Given the description of an element on the screen output the (x, y) to click on. 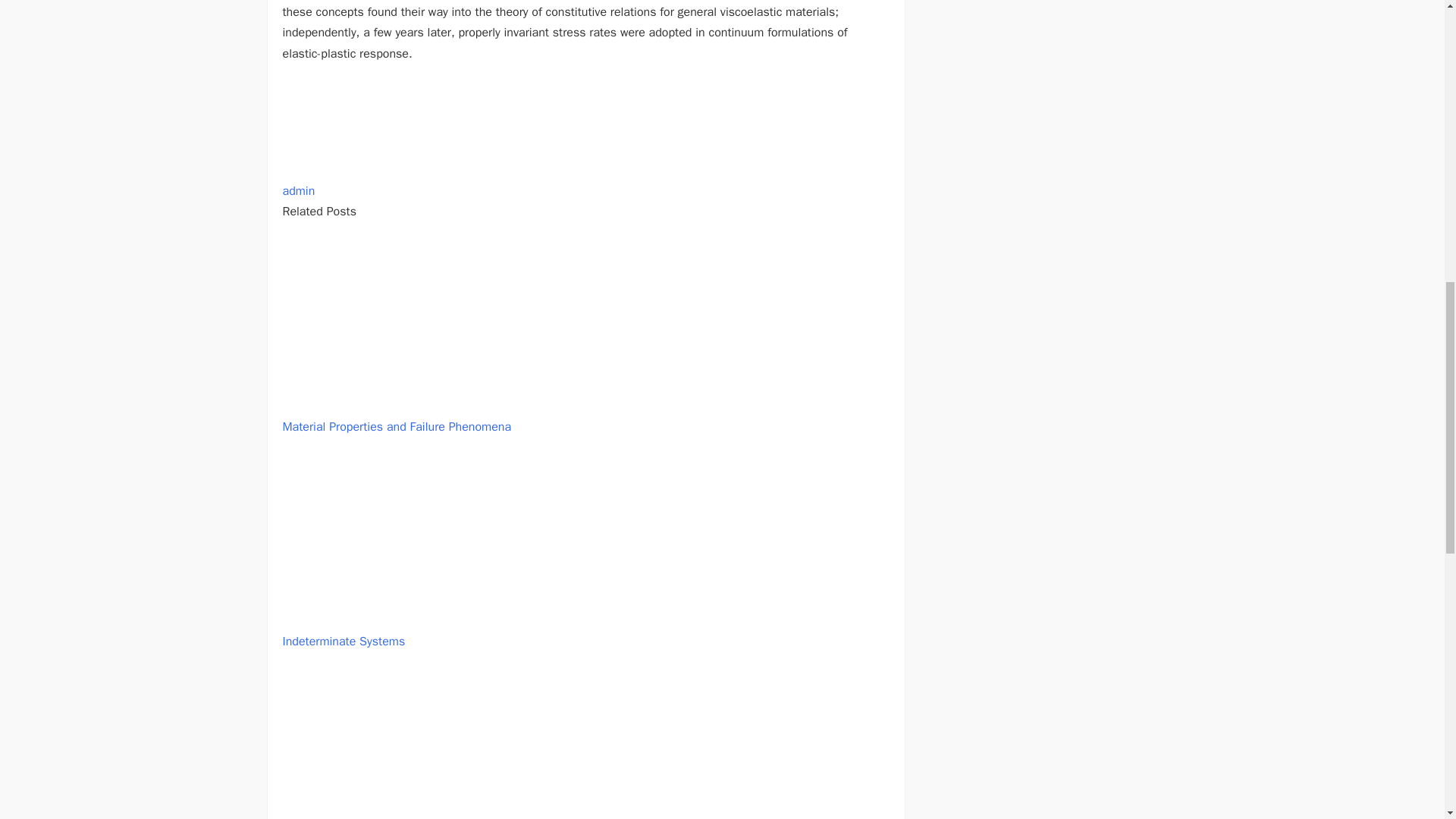
Indeterminate Systems (343, 641)
Material Properties and Failure Phenomena (396, 426)
admin (298, 191)
